Given the description of an element on the screen output the (x, y) to click on. 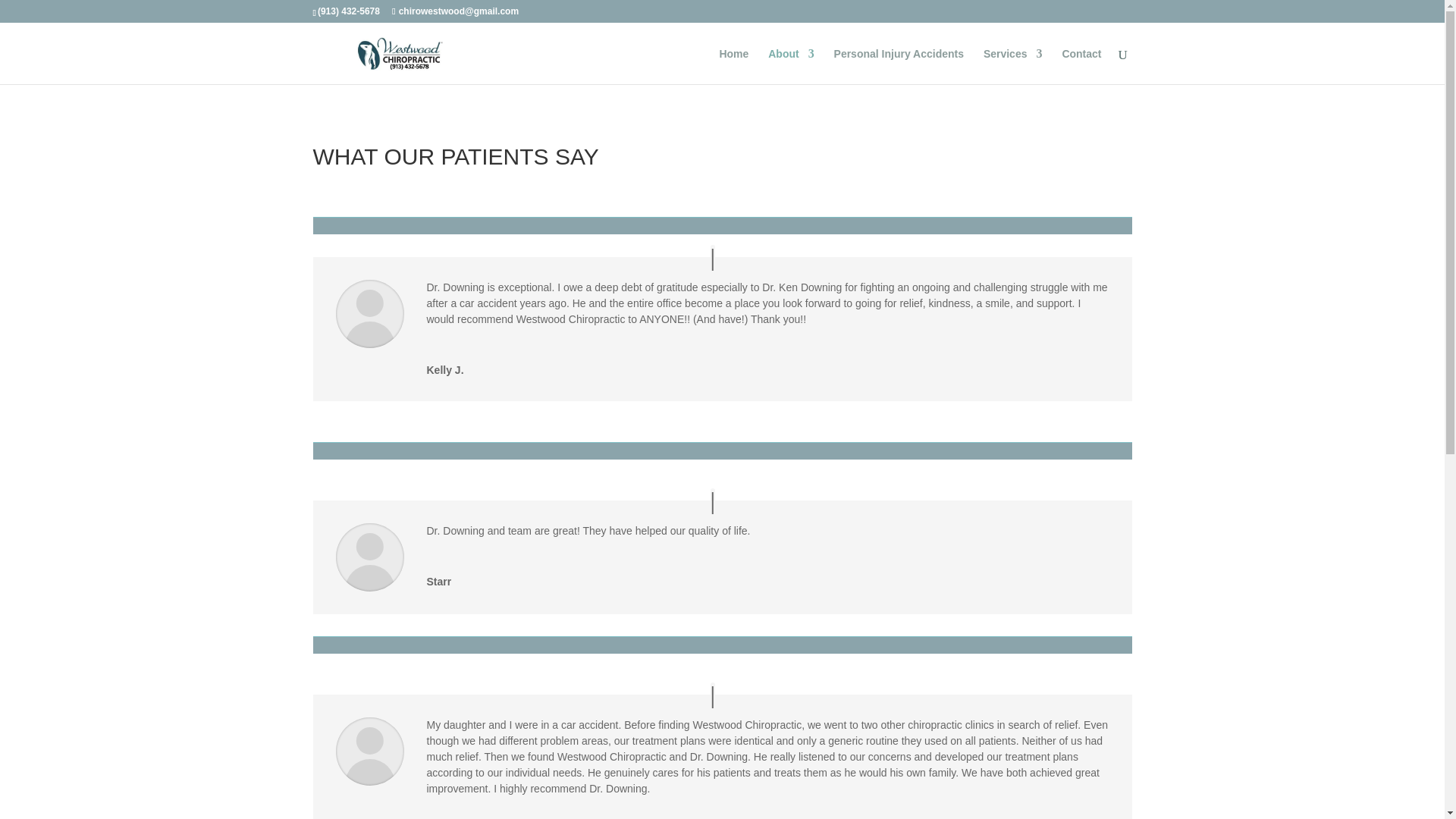
Contact (1080, 66)
Services (1013, 66)
Personal Injury Accidents (898, 66)
About (790, 66)
